Given the description of an element on the screen output the (x, y) to click on. 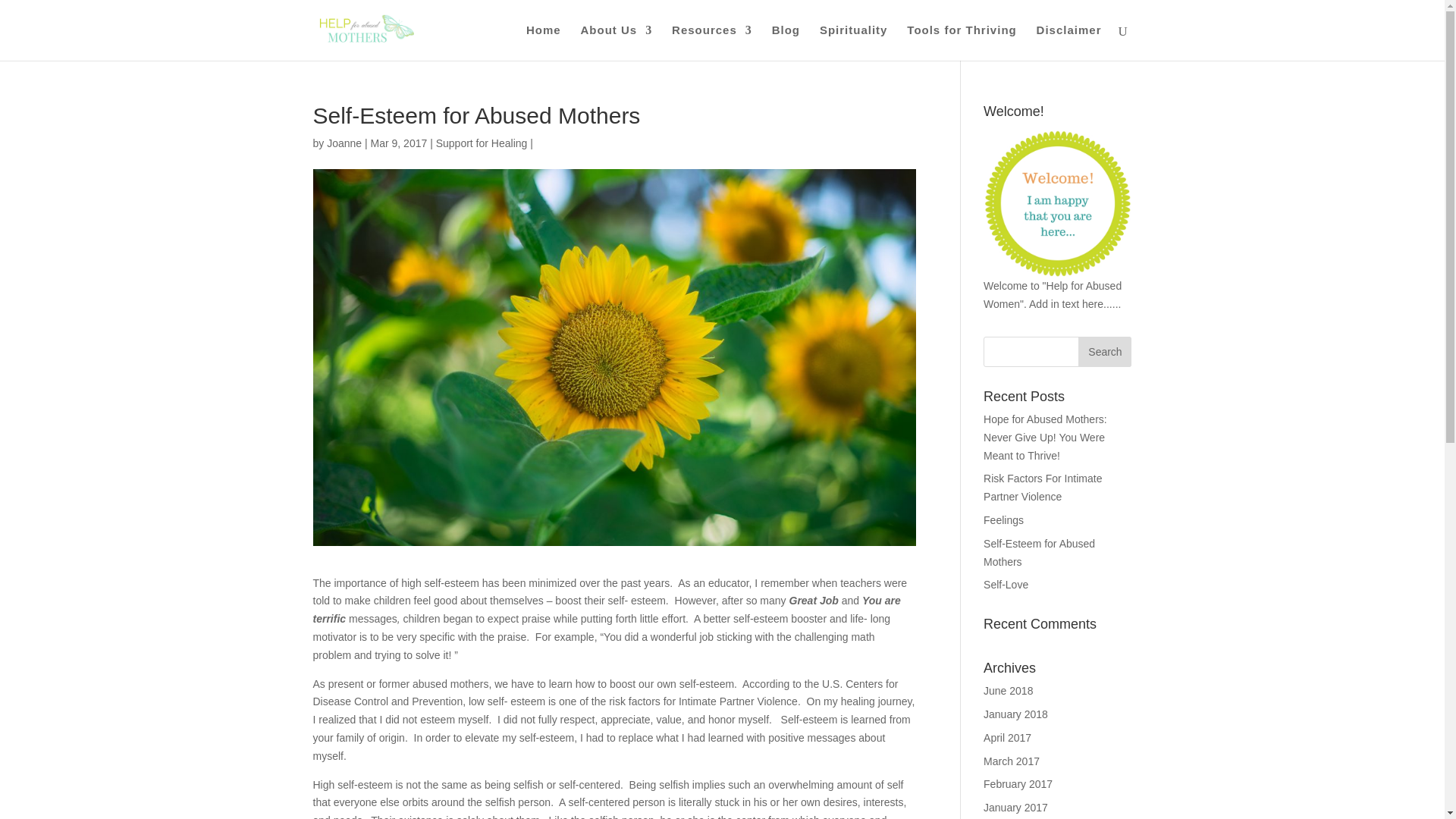
Posts by Joanne (343, 143)
Joanne (343, 143)
Search (1104, 351)
Spirituality (853, 42)
Tools for Thriving (961, 42)
April 2017 (1007, 737)
Resources (711, 42)
June 2018 (1008, 690)
Support for Healing (481, 143)
Disclaimer (1069, 42)
Search (1104, 351)
Self-Love (1005, 584)
February 2017 (1018, 784)
Home (542, 42)
